Given the description of an element on the screen output the (x, y) to click on. 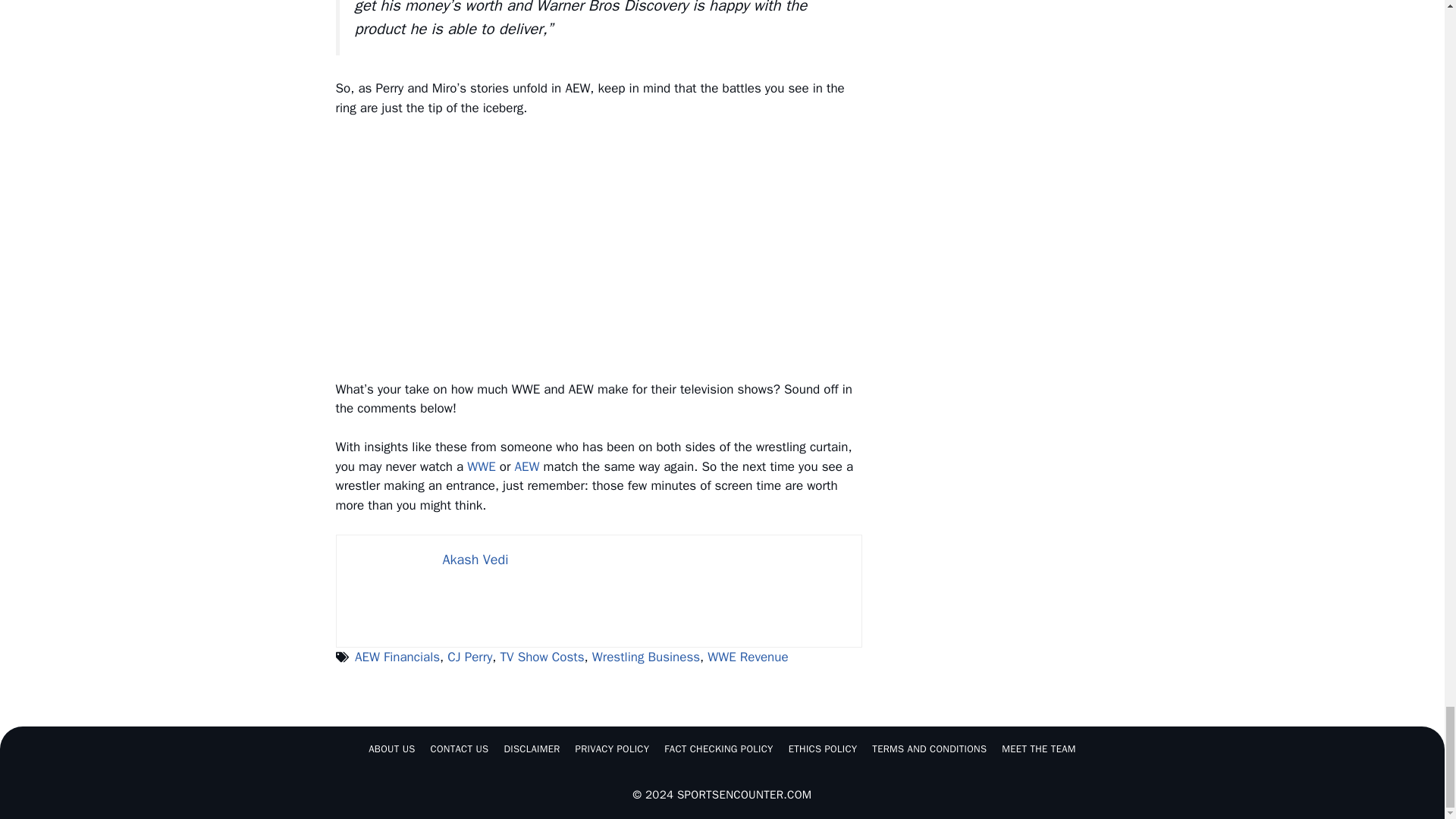
Wrestling Business (646, 657)
CJ Perry (469, 657)
AEW Financials (397, 657)
AEW (527, 466)
TV Show Costs (542, 657)
WWE Revenue (747, 657)
WWE (481, 466)
Akash Vedi (475, 559)
